Given the description of an element on the screen output the (x, y) to click on. 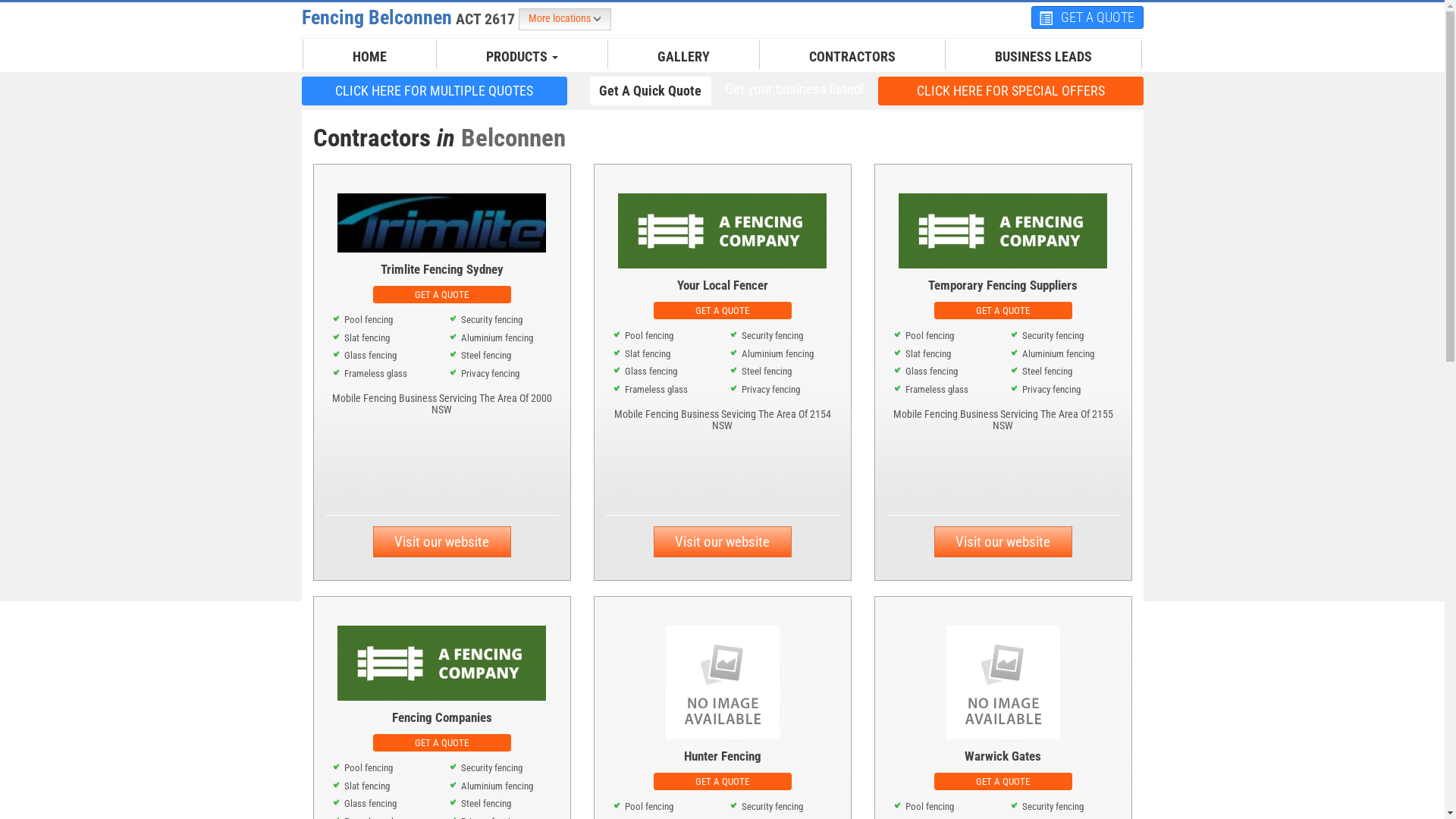
GET A QUOTE Element type: text (1003, 310)
CONTRACTORS Element type: text (851, 56)
GET A QUOTE Element type: text (722, 310)
Get A Quick Quote Element type: text (650, 90)
GET A QUOTE Element type: text (1087, 17)
GALLERY Element type: text (683, 56)
GET A QUOTE Element type: text (722, 309)
Visit our website Element type: text (1003, 541)
More locations Element type: text (564, 19)
CLICK HERE FOR MULTIPLE QUOTES Element type: text (434, 90)
GET A QUOTE Element type: text (722, 781)
Visit our website Element type: text (442, 541)
CLICK HERE FOR MULTIPLE QUOTES Element type: text (434, 90)
Visit our website Element type: text (722, 541)
BUSINESS LEADS Element type: text (1042, 56)
Get A Quick Quote Element type: text (650, 90)
Visit our website Element type: text (1003, 541)
Visit our website Element type: text (442, 541)
GET A QUOTE Element type: text (442, 294)
GET A QUOTE Element type: text (442, 293)
GET A QUOTE Element type: text (1003, 780)
GET A QUOTE Element type: text (442, 741)
Fencing Belconnen ACT 2617 Element type: text (409, 17)
GET A QUOTE Element type: text (722, 780)
GET A QUOTE Element type: text (1003, 781)
GET A QUOTE Element type: text (1003, 309)
Get your business listed! Element type: text (793, 89)
Visit our website Element type: text (722, 541)
HOME Element type: text (369, 56)
CLICK HERE FOR SPECIAL OFFERS Element type: text (1010, 90)
GET A QUOTE Element type: text (442, 742)
CLICK HERE FOR SPECIAL OFFERS Element type: text (1010, 90)
PRODUCTS Element type: text (521, 56)
